Given the description of an element on the screen output the (x, y) to click on. 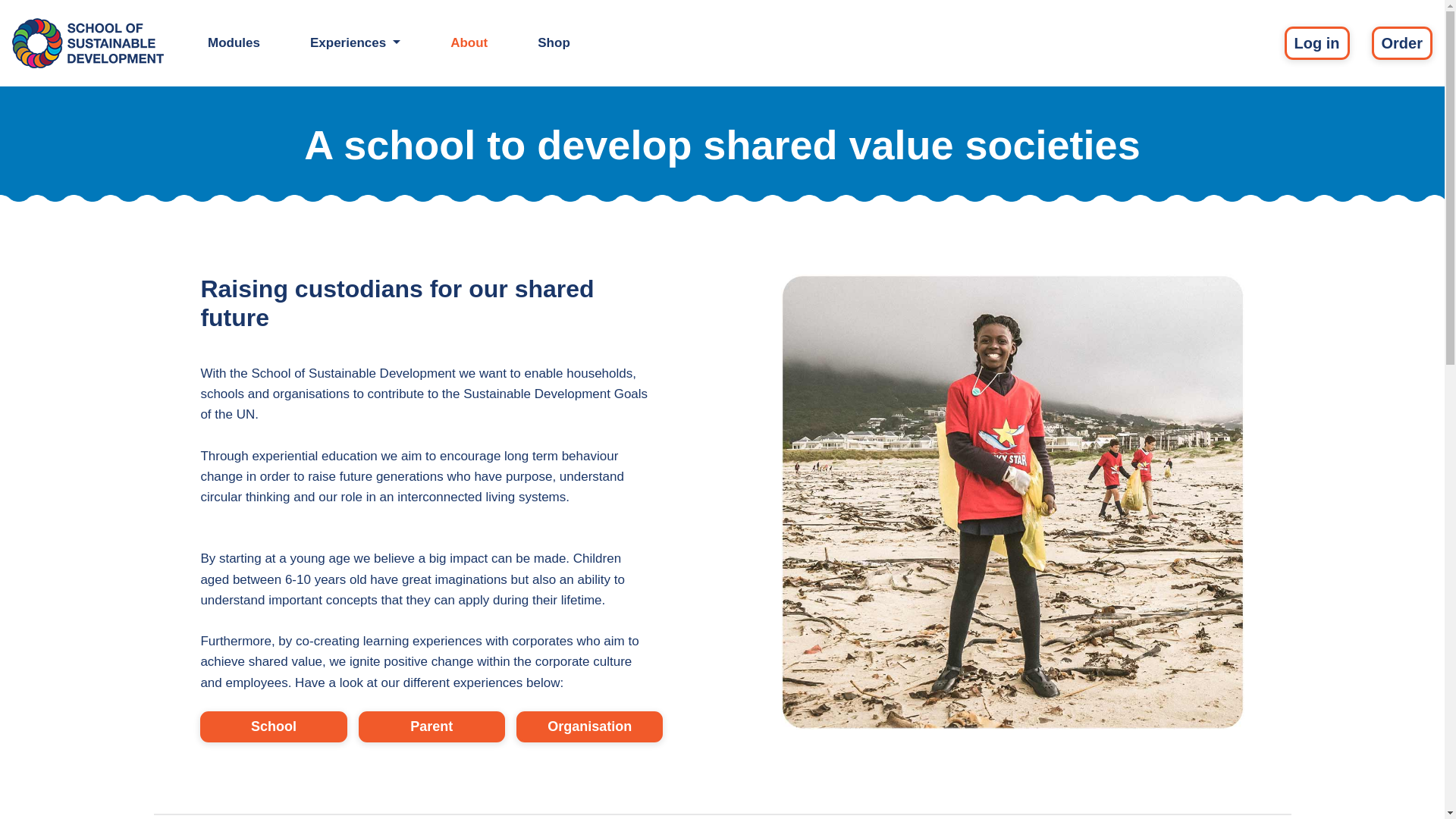
Shop (553, 42)
Experiences (355, 42)
Log in (1316, 42)
Order (1401, 42)
About (468, 42)
Organisation (589, 726)
Parent (431, 726)
School (273, 726)
Modules (234, 42)
